Given the description of an element on the screen output the (x, y) to click on. 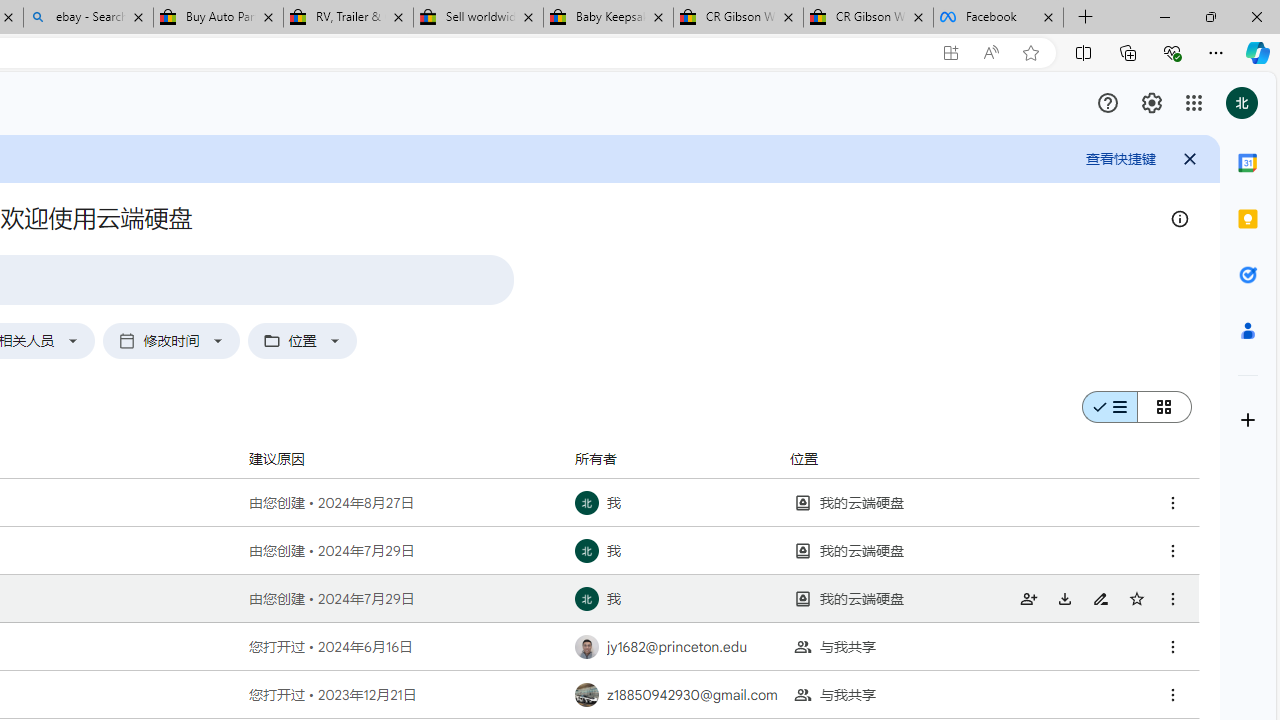
Class: gb_E (1193, 102)
Class:  c-qd a-s-fa-Ha-pa BMAFpd (1172, 695)
